Given the description of an element on the screen output the (x, y) to click on. 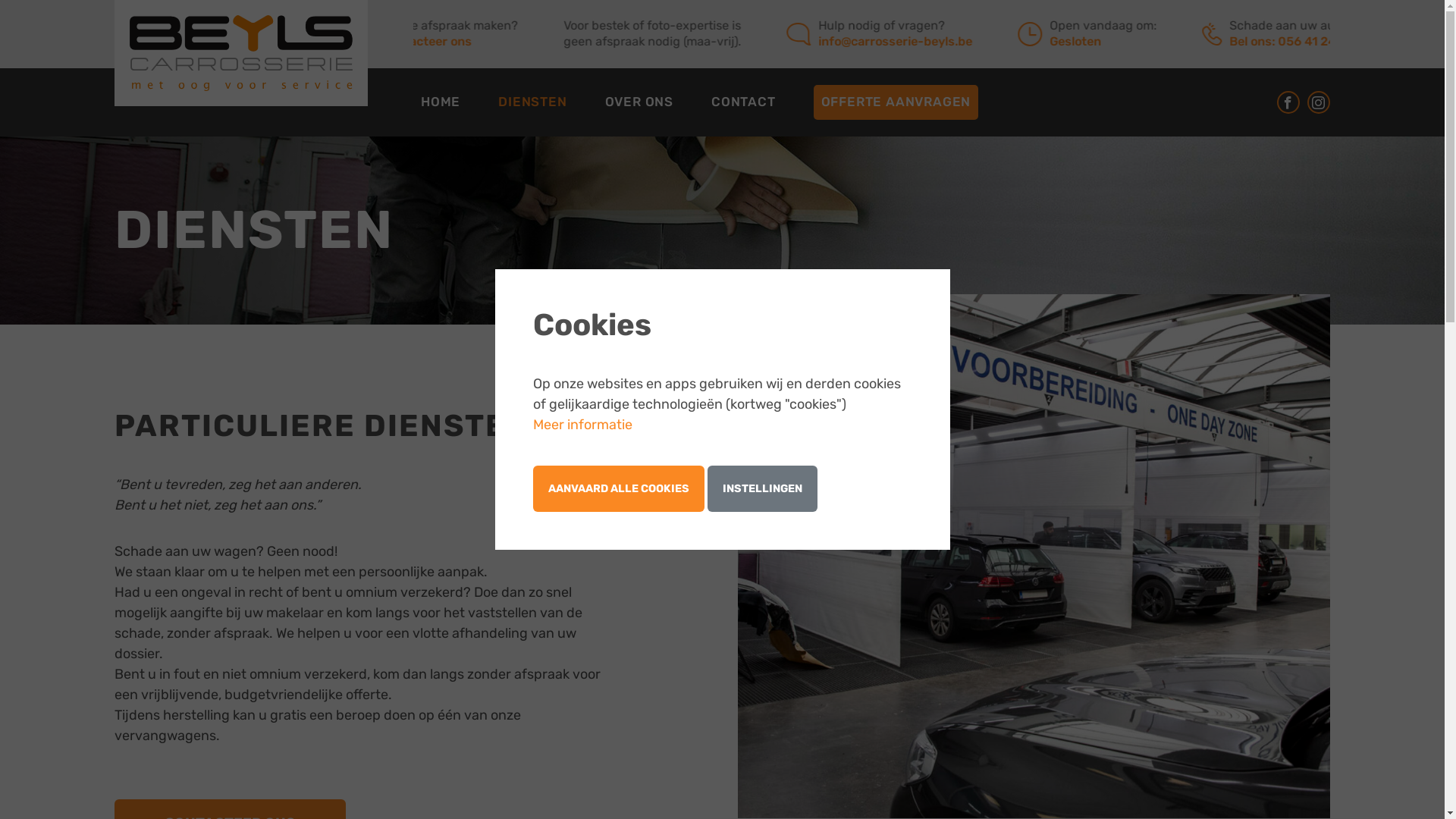
AANVAARD ALLE COOKIES Element type: text (617, 488)
Home - BEYLS Carrosserie Element type: hover (240, 53)
OFFERTE AANVRAGEN Element type: text (896, 101)
Meer informatie Element type: text (581, 424)
OVER ONS Element type: text (639, 102)
Contacteer ons Element type: text (454, 41)
DIENSTEN Element type: text (532, 102)
INSTELLINGEN Element type: text (761, 488)
CONTACT Element type: text (743, 102)
info@carrosserie-beyls.be Element type: text (923, 41)
HOME Element type: text (440, 102)
Bel ons: 056 41 24 62 Element type: text (1318, 41)
